Given the description of an element on the screen output the (x, y) to click on. 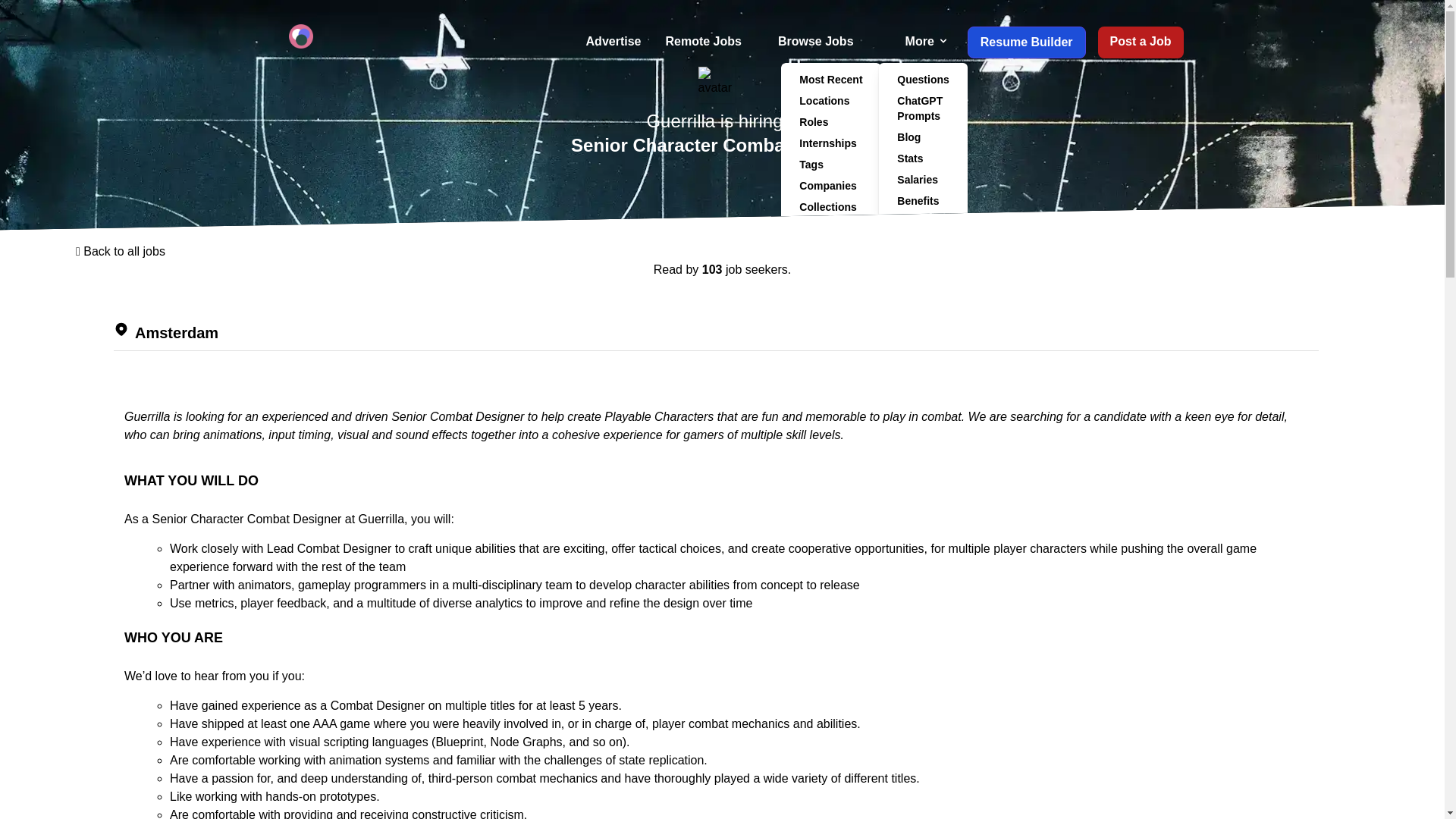
Tags (831, 164)
Advertise (613, 42)
Companies (831, 185)
Stats (922, 158)
Most Recent (831, 79)
Internships (831, 142)
ChatGPT Prompts (922, 108)
Collections (831, 206)
Browse Jobs (822, 41)
Post a Job (1140, 42)
Resume Builder (1027, 42)
Questions (922, 79)
Blog (922, 137)
Locations (831, 100)
Benefits (922, 200)
